Given the description of an element on the screen output the (x, y) to click on. 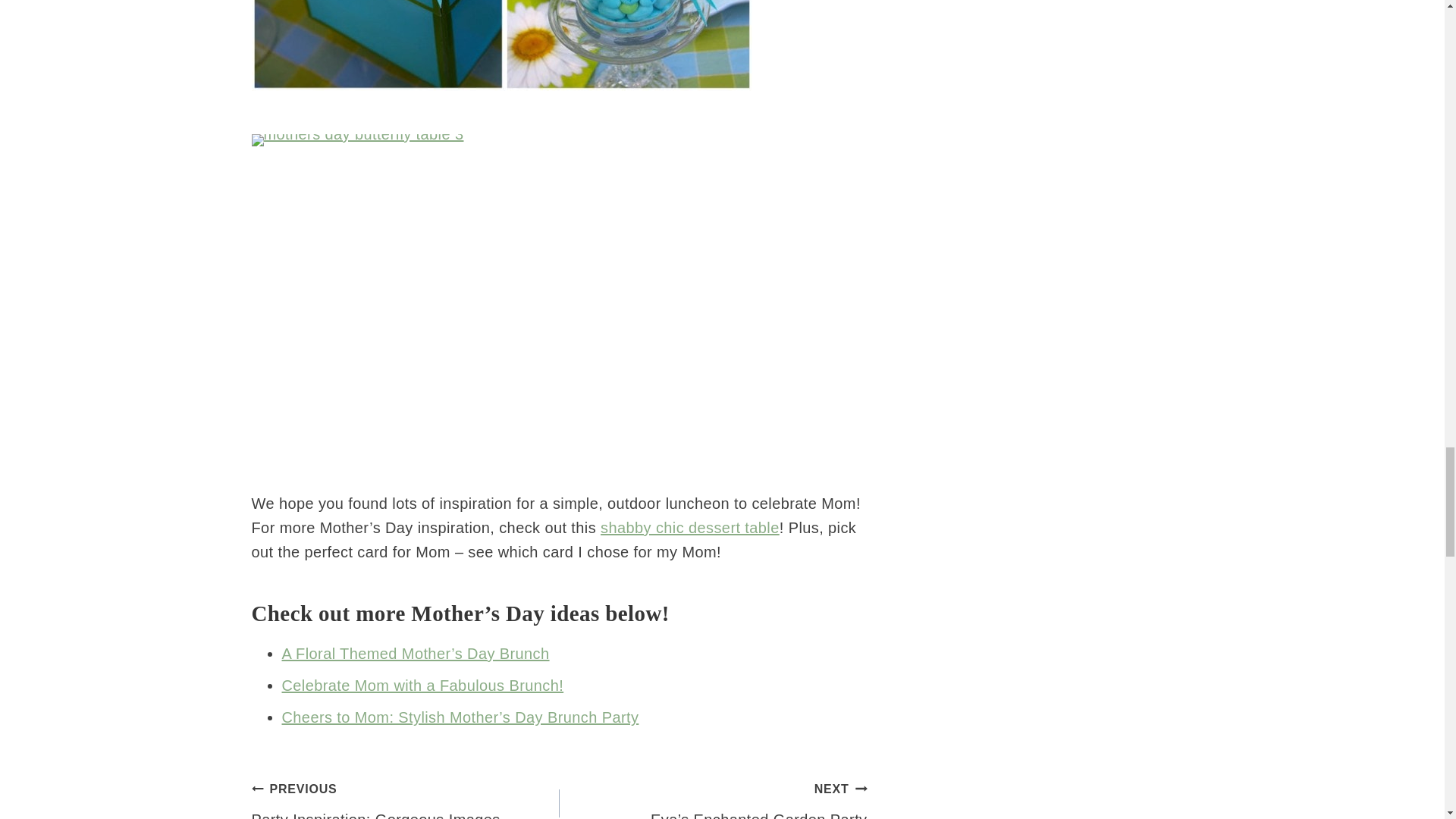
mothers day butterfly table 8 (501, 45)
